Given the description of an element on the screen output the (x, y) to click on. 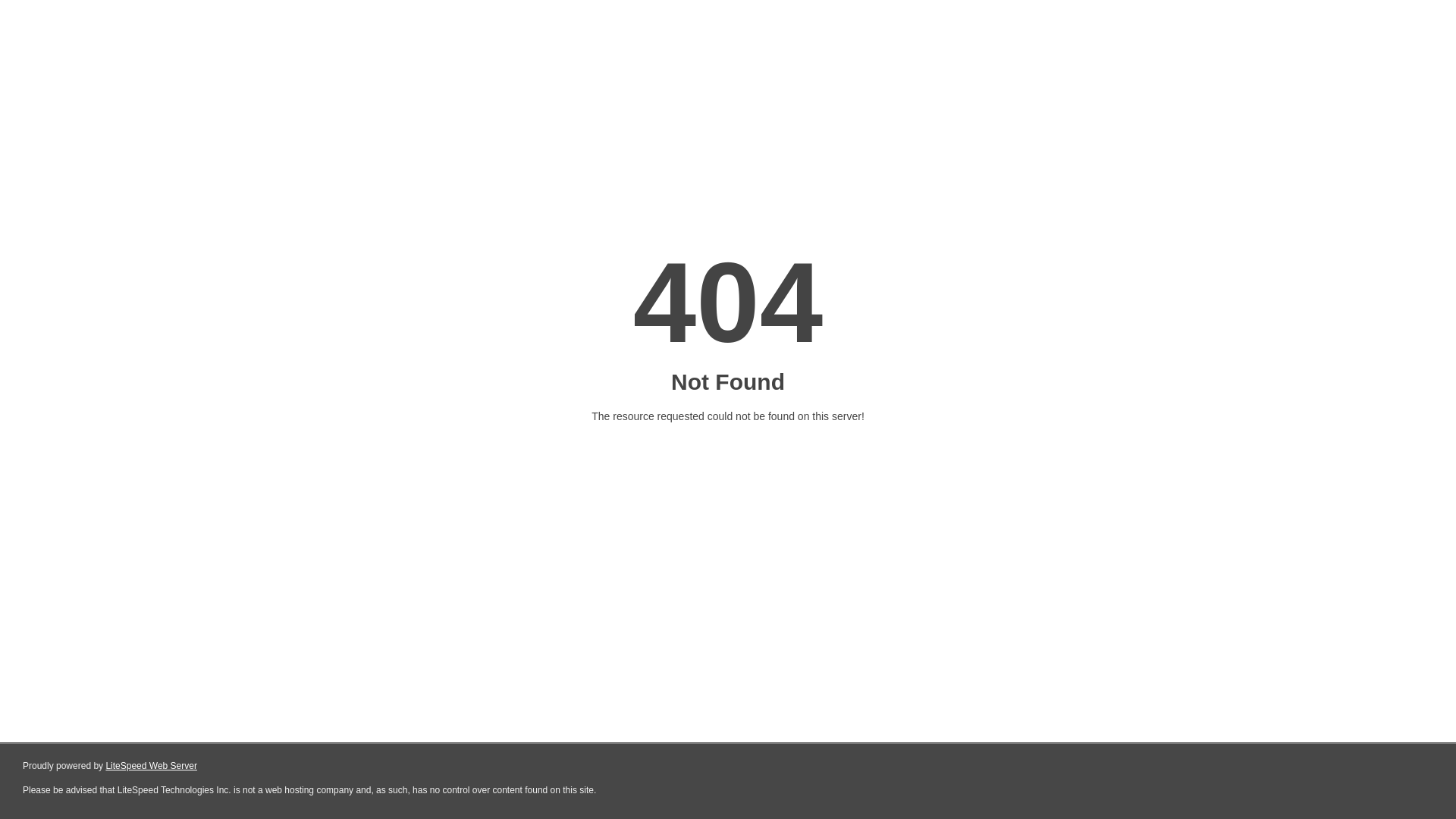
LiteSpeed Web Server Element type: text (151, 765)
